Given the description of an element on the screen output the (x, y) to click on. 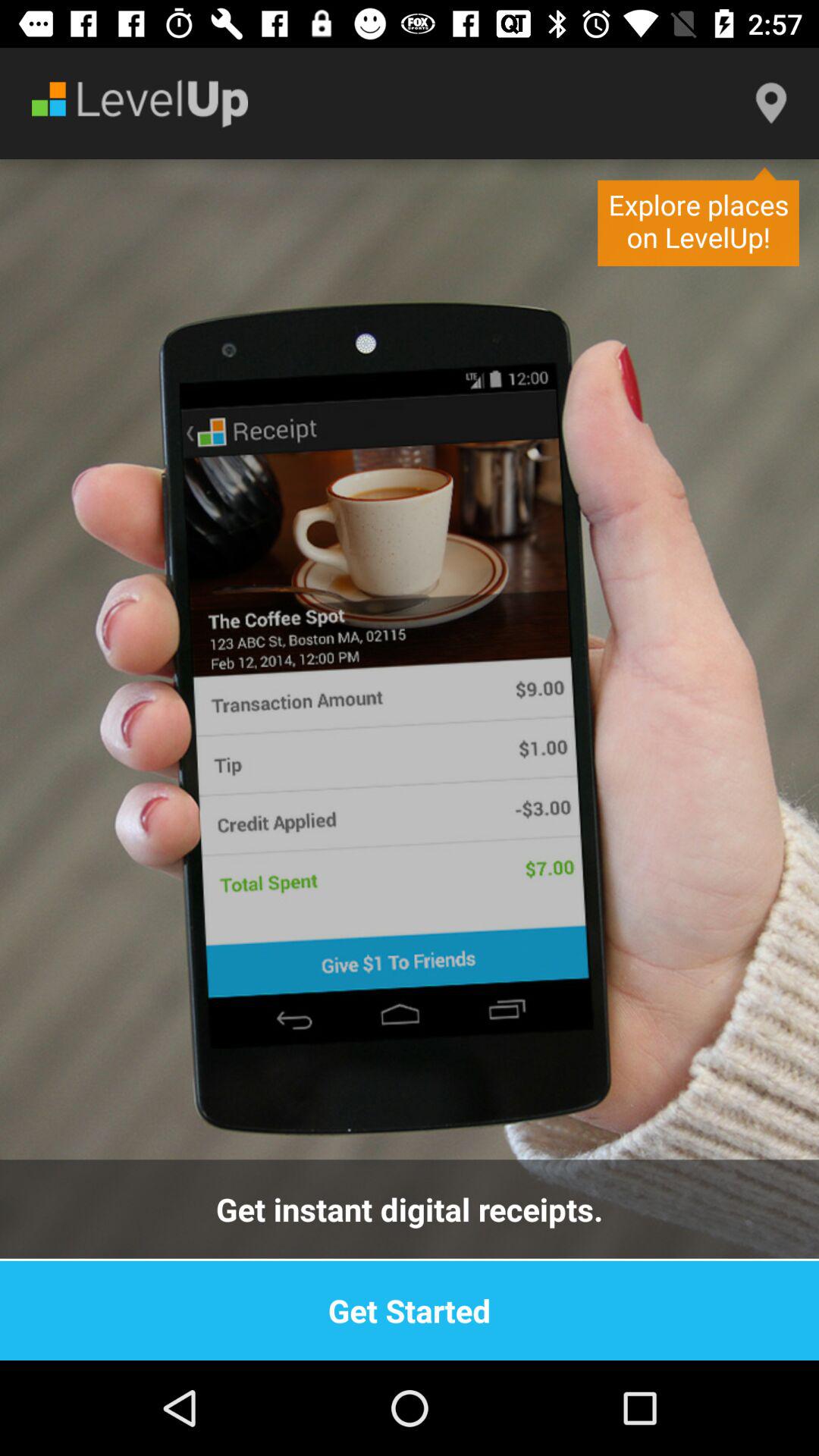
press get started item (409, 1310)
